Given the description of an element on the screen output the (x, y) to click on. 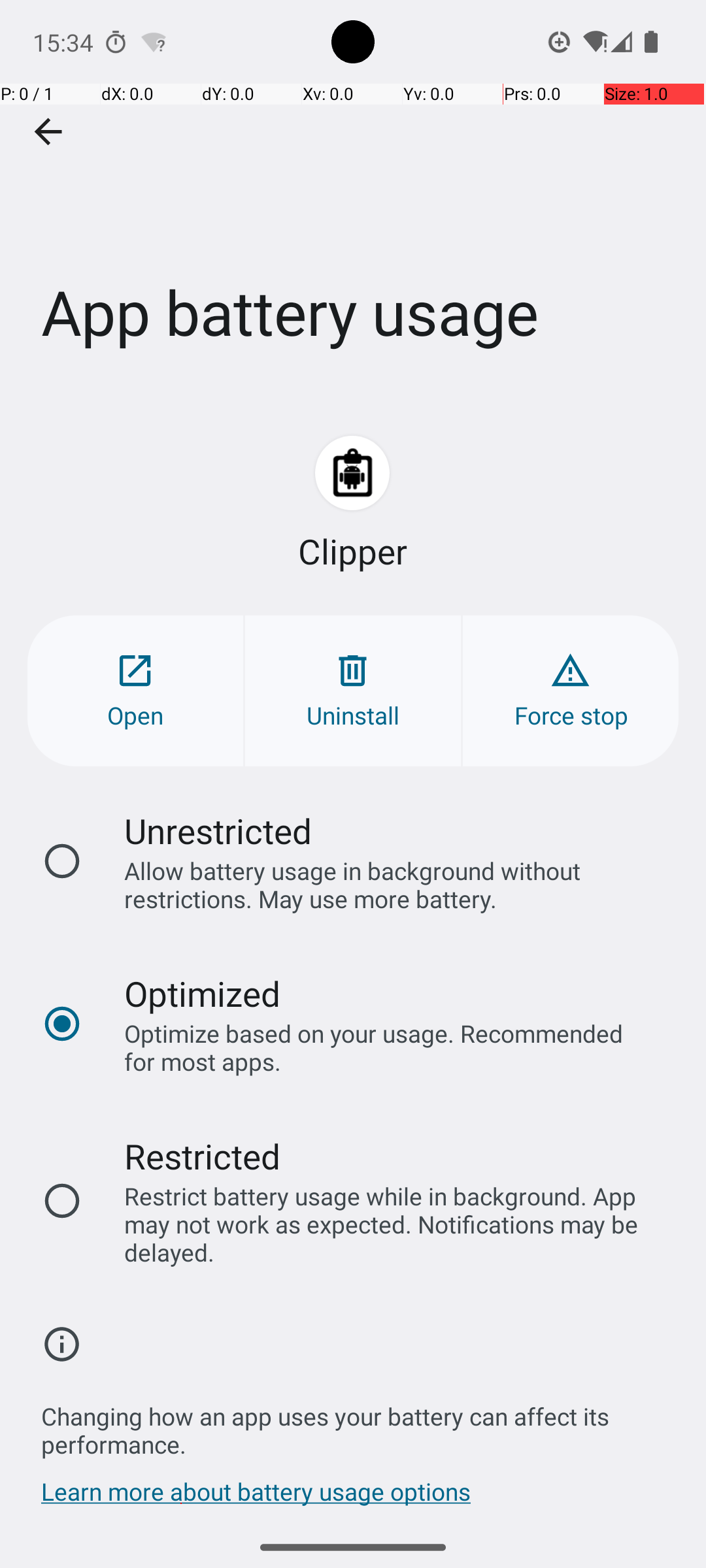
Unrestricted Element type: android.widget.TextView (217, 830)
Allow battery usage in background without restrictions. May use more battery. Element type: android.widget.TextView (387, 884)
Optimized Element type: android.widget.TextView (202, 993)
Optimize based on your usage. Recommended for most apps. Element type: android.widget.TextView (387, 1047)
Restricted Element type: android.widget.TextView (202, 1155)
Restrict battery usage while in background. App may not work as expected. Notifications may be delayed. Element type: android.widget.TextView (387, 1223)
Changing how an app uses your battery can affect its performance. Element type: android.widget.TextView (359, 1423)
Learn more about battery usage options Element type: android.widget.TextView (255, 1497)
